Given the description of an element on the screen output the (x, y) to click on. 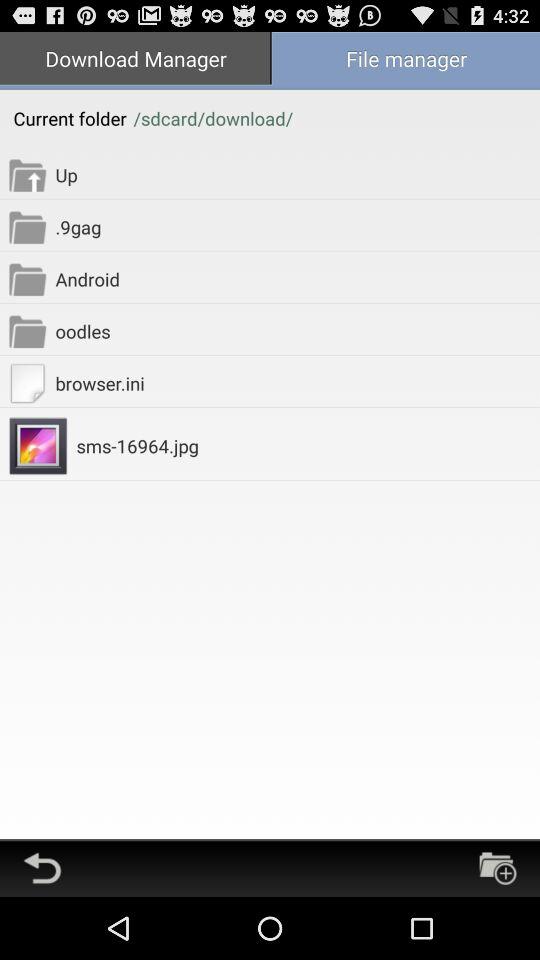
select item below android (297, 330)
